Given the description of an element on the screen output the (x, y) to click on. 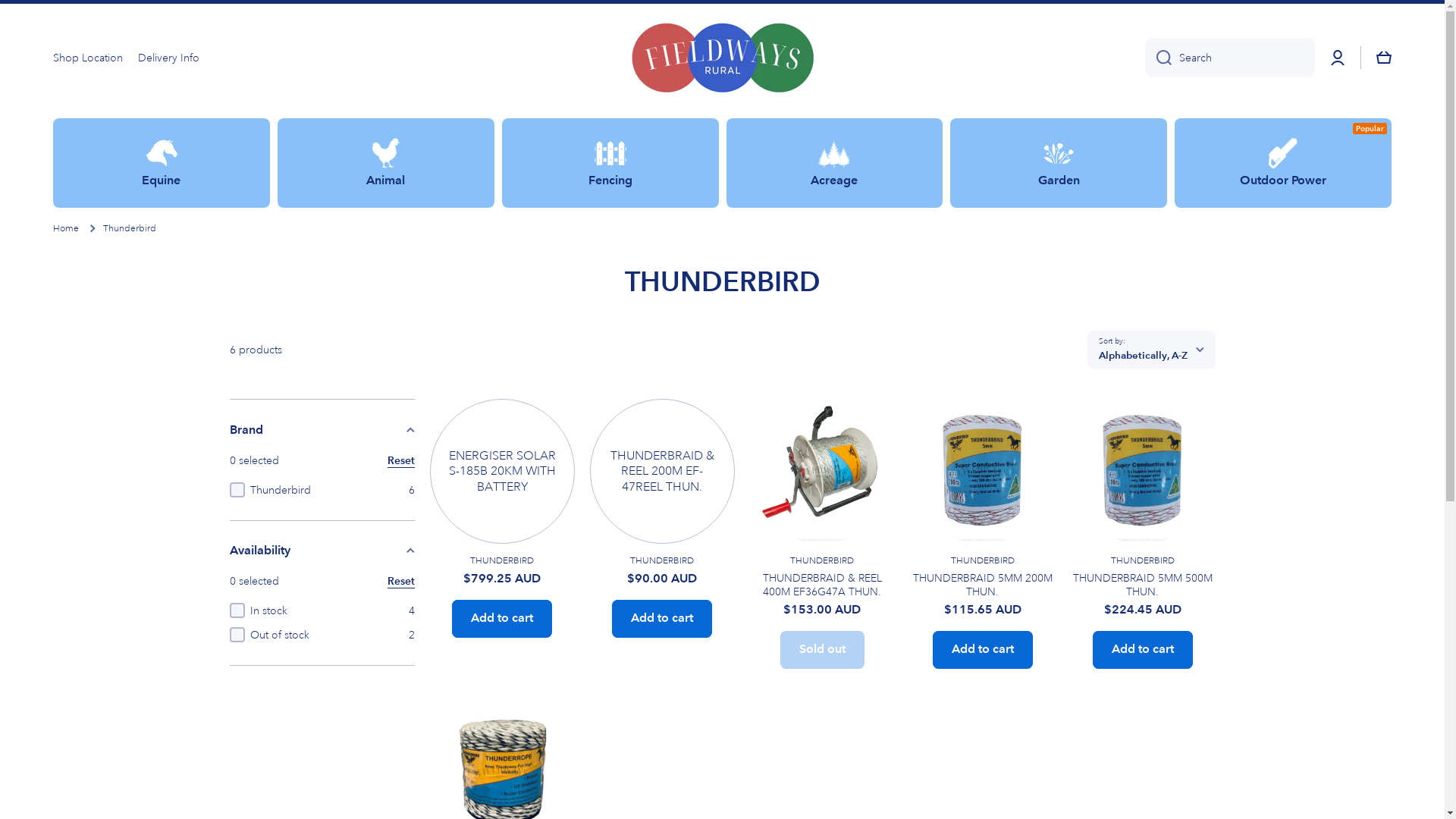
THUNDERBRAID 5MM 200M THUN. Element type: text (982, 584)
Garden Element type: text (1058, 162)
THUNDERBRAID & REEL 400M EF36G47A THUN. Element type: text (821, 584)
Add to cart Element type: text (661, 618)
Animal Element type: text (385, 162)
THUNDERBRAID 5MM 500M THUN. Element type: text (1142, 584)
Sold out Element type: text (822, 649)
Add to cart Element type: text (501, 618)
Shop Location Element type: text (87, 57)
Fencing Element type: text (610, 162)
ENERGISER SOLAR S-185B 20KM WITH BATTERY Element type: text (501, 470)
Reset Element type: text (400, 580)
Equine Element type: text (161, 162)
Home Element type: text (65, 228)
Log in Element type: text (1337, 57)
Outdoor Power
Popular Element type: text (1282, 162)
Acreage Element type: text (834, 162)
THUNDERBRAID & REEL 200M EF-47REEL THUN. Element type: text (661, 470)
Reset Element type: text (400, 460)
Delivery Info Element type: text (168, 57)
Add to cart Element type: text (1142, 649)
Alphabetically, A-Z Element type: text (1151, 349)
Cart Element type: text (1383, 57)
Add to cart Element type: text (982, 649)
